Given the description of an element on the screen output the (x, y) to click on. 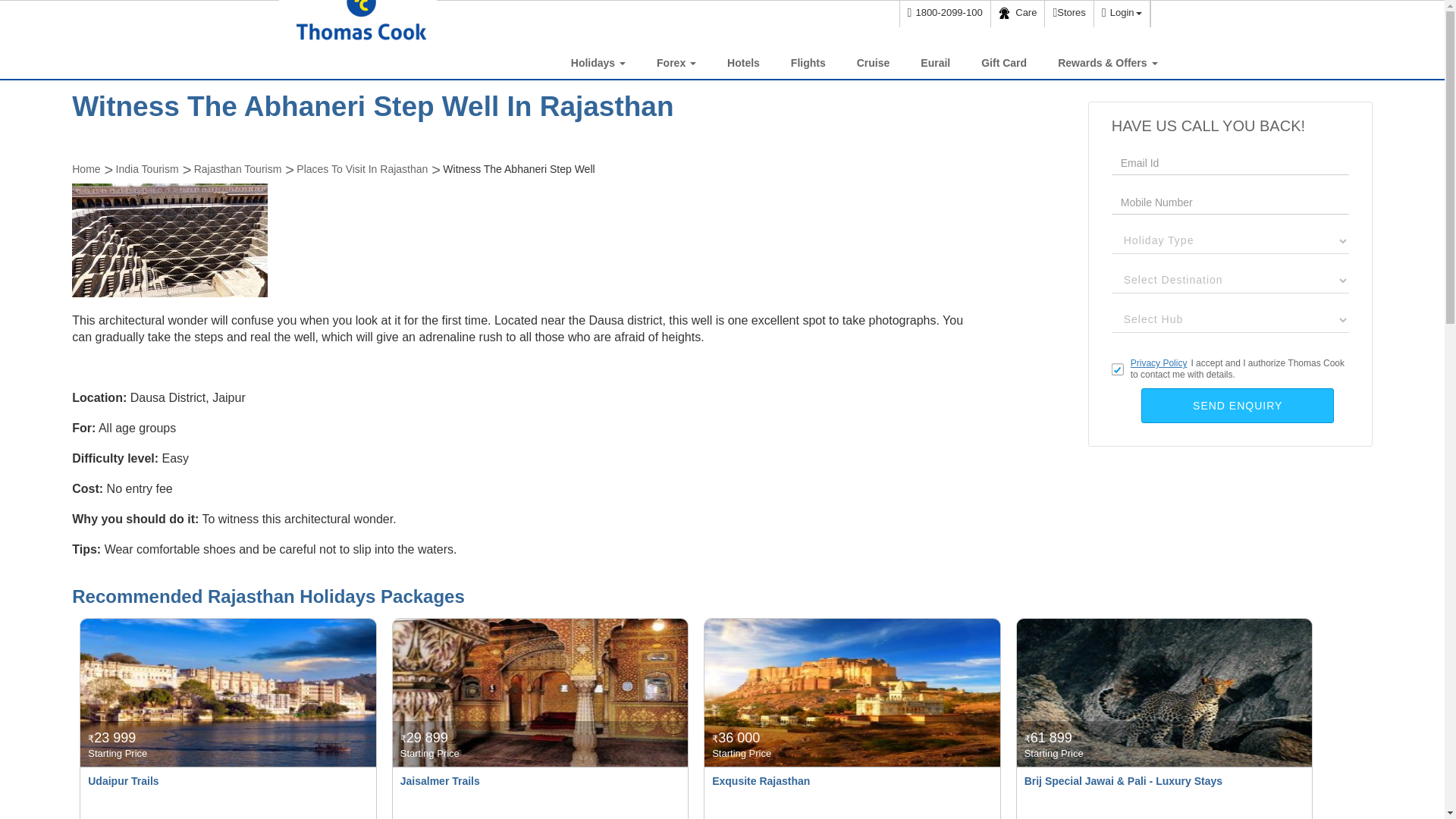
Login (1121, 13)
1800-2099-100 (944, 13)
Stores (1068, 13)
Care (1017, 13)
